Given the description of an element on the screen output the (x, y) to click on. 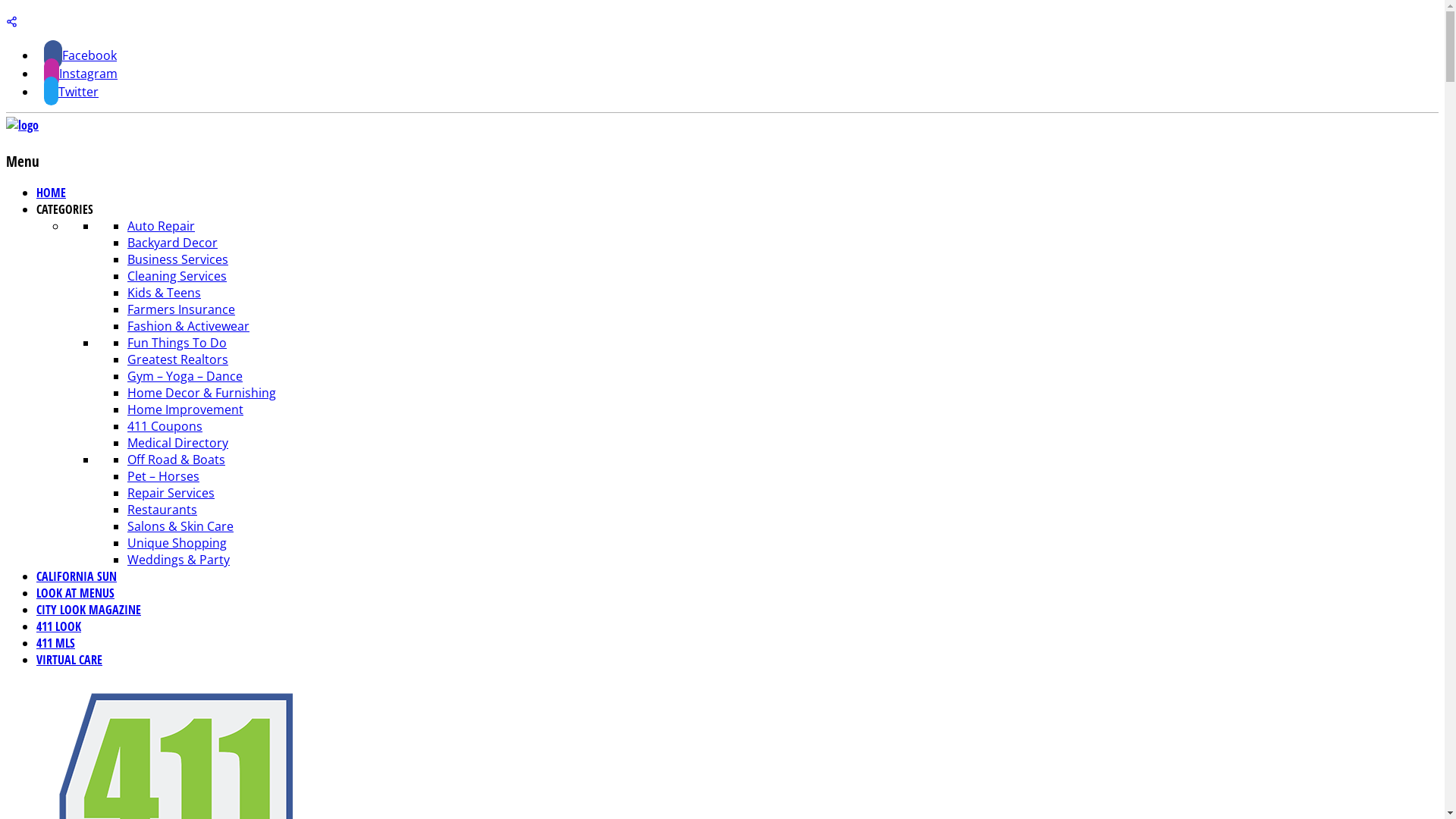
Auto Repair Element type: text (160, 225)
Cleaning Services Element type: text (176, 275)
CITY LOOK MAGAZINE Element type: text (88, 609)
Backyard Decor Element type: text (172, 242)
Fun Things To Do Element type: text (176, 342)
Kids & Teens Element type: text (163, 292)
Home Improvement Element type: text (185, 409)
Business Services Element type: text (177, 259)
411 MLS Element type: text (55, 642)
Fashion & Activewear Element type: text (188, 325)
LOOK AT MENUS Element type: text (75, 592)
HOME Element type: text (50, 192)
Restaurants Element type: text (162, 509)
Facebook Element type: text (79, 55)
Salons & Skin Care Element type: text (180, 525)
Weddings & Party Element type: text (178, 559)
Instagram Element type: text (80, 73)
411Look Element type: hover (22, 124)
Off Road & Boats Element type: text (176, 459)
VIRTUAL CARE Element type: text (69, 659)
411 Coupons Element type: text (164, 425)
Unique Shopping Element type: text (176, 542)
Farmers Insurance Element type: text (181, 309)
Repair Services Element type: text (170, 492)
CALIFORNIA SUN Element type: text (76, 575)
Medical Directory Element type: text (177, 442)
CATEGORIES Element type: text (64, 208)
Twitter Element type: text (70, 91)
Greatest Realtors Element type: text (177, 359)
411 LOOK Element type: text (58, 626)
Home Decor & Furnishing Element type: text (201, 392)
